Given the description of an element on the screen output the (x, y) to click on. 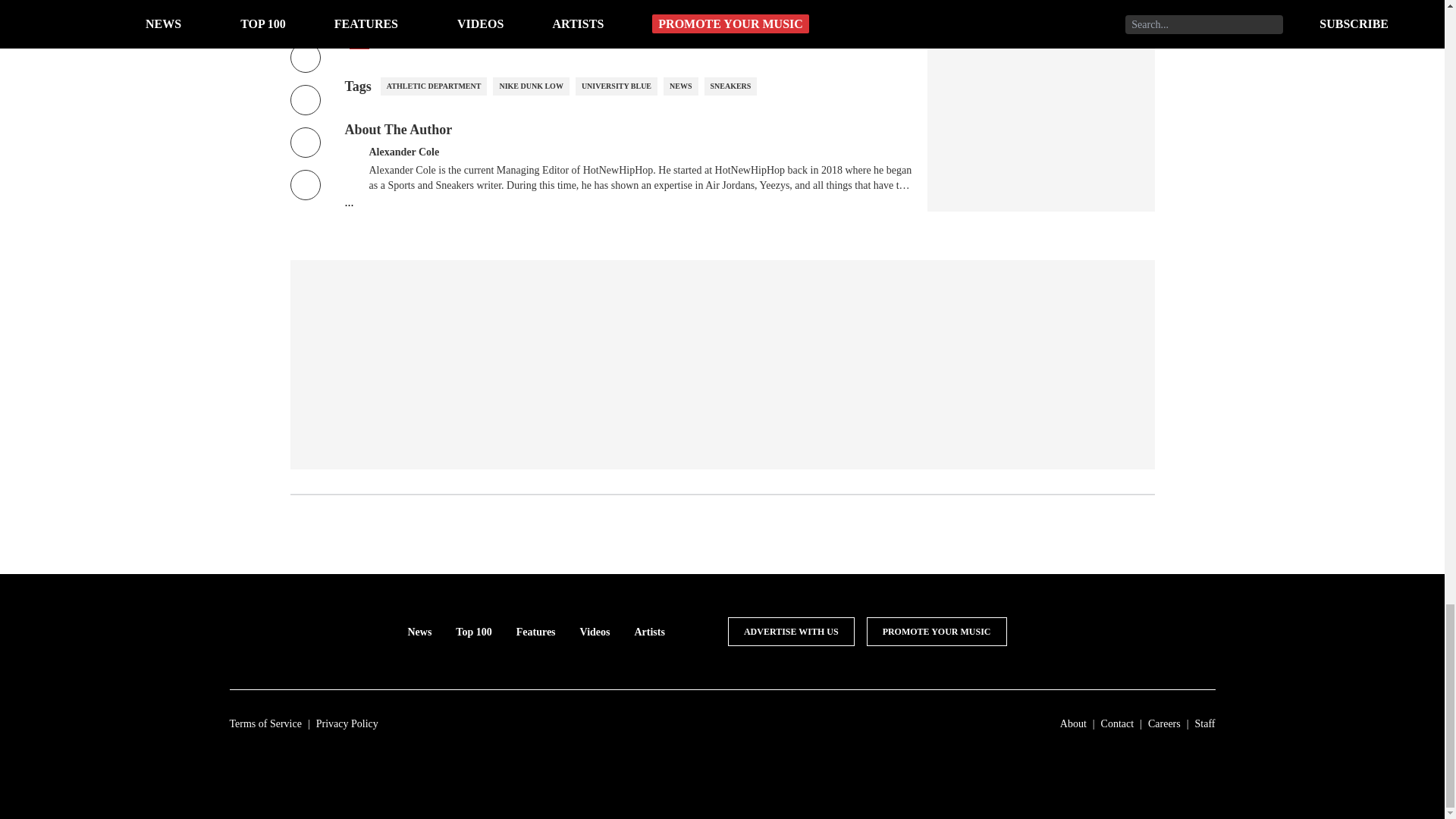
SNEAKERS (730, 85)
Alexander Cole (403, 150)
NIKE DUNK LOW (531, 85)
UNIVERSITY BLUE (616, 85)
Via (358, 40)
NEWS (680, 85)
ATHLETIC DEPARTMENT (433, 85)
